Given the description of an element on the screen output the (x, y) to click on. 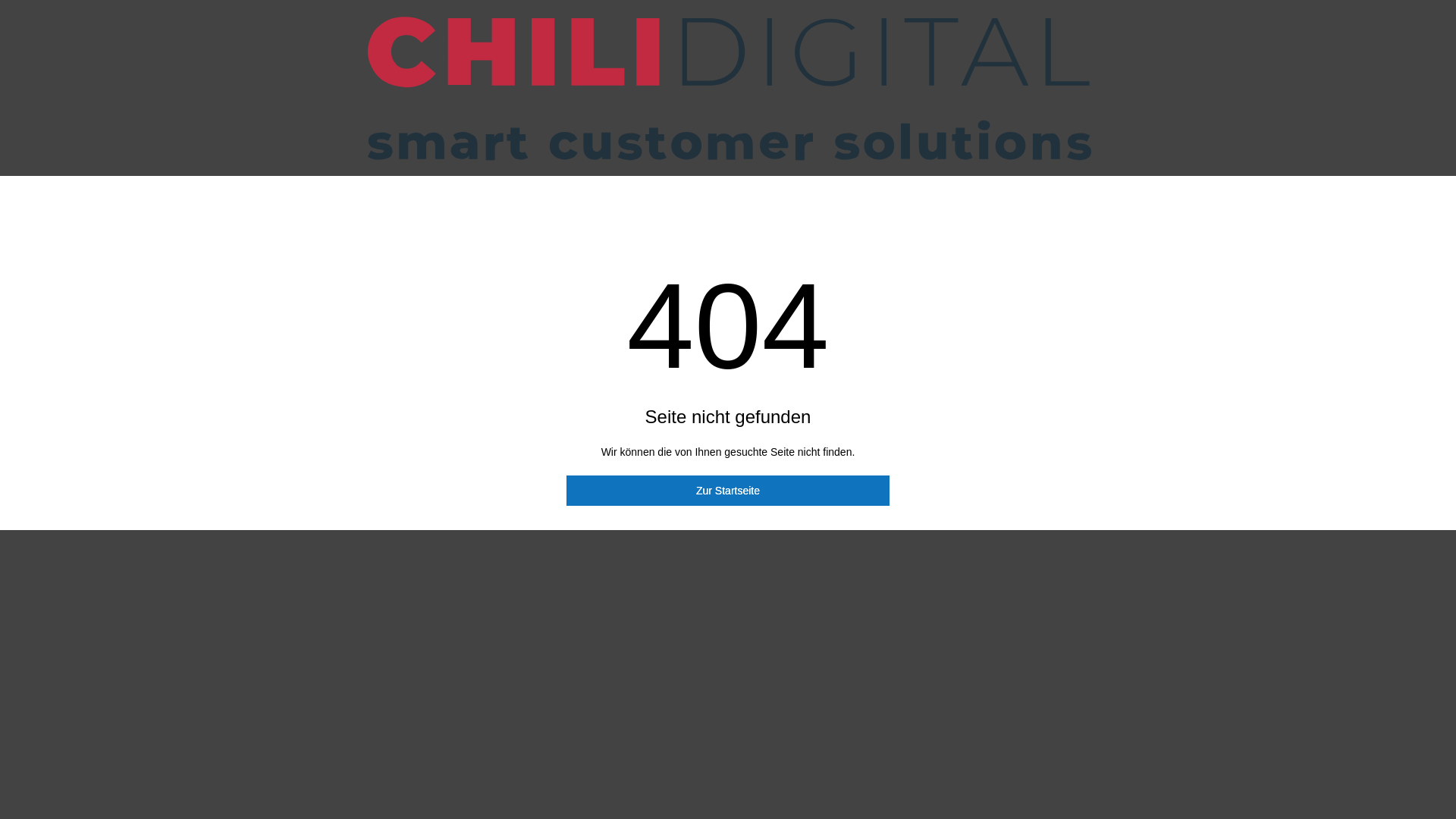
Zur Startseite Element type: text (727, 490)
